Given the description of an element on the screen output the (x, y) to click on. 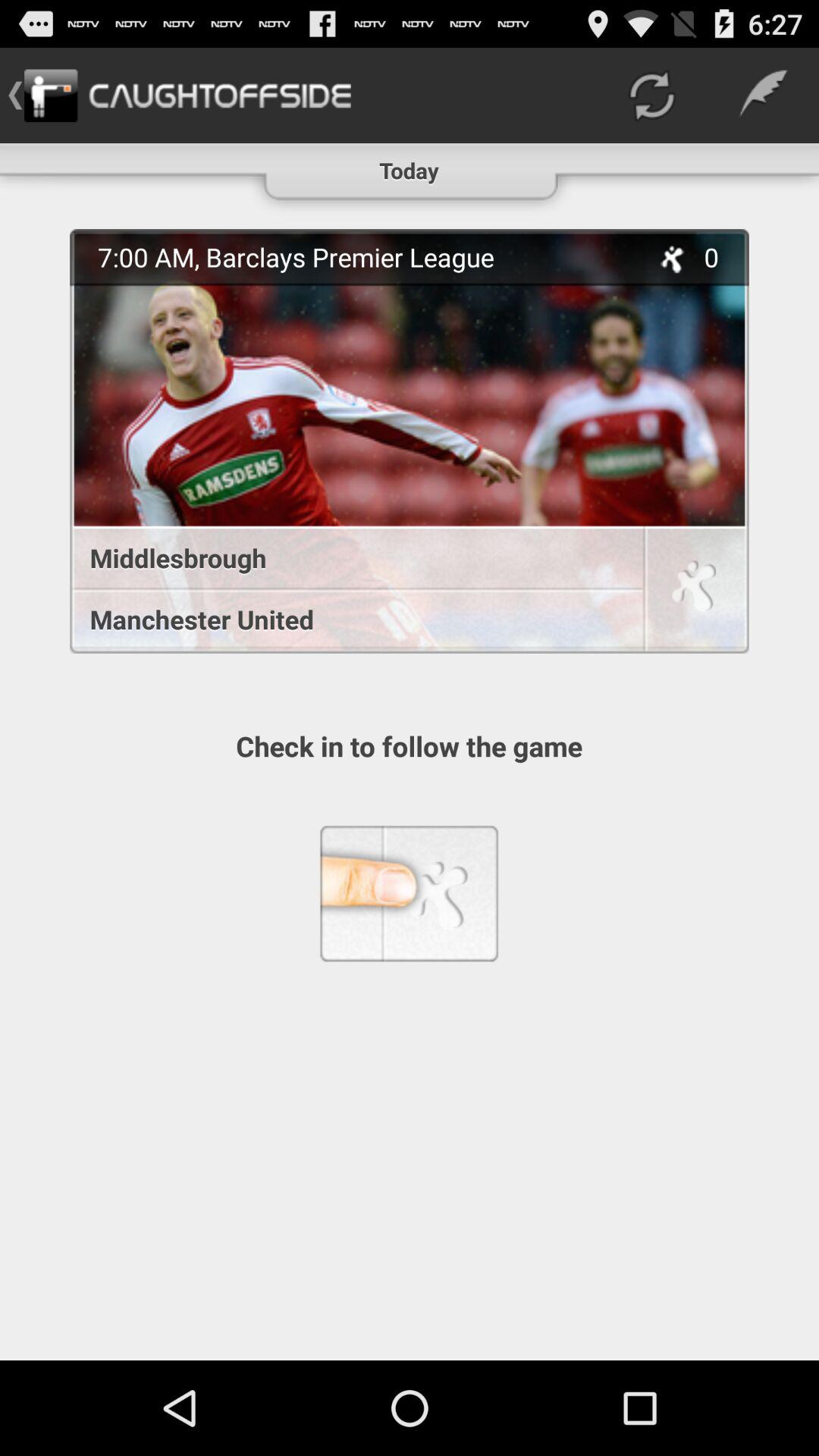
tap icon below the today icon (409, 441)
